Given the description of an element on the screen output the (x, y) to click on. 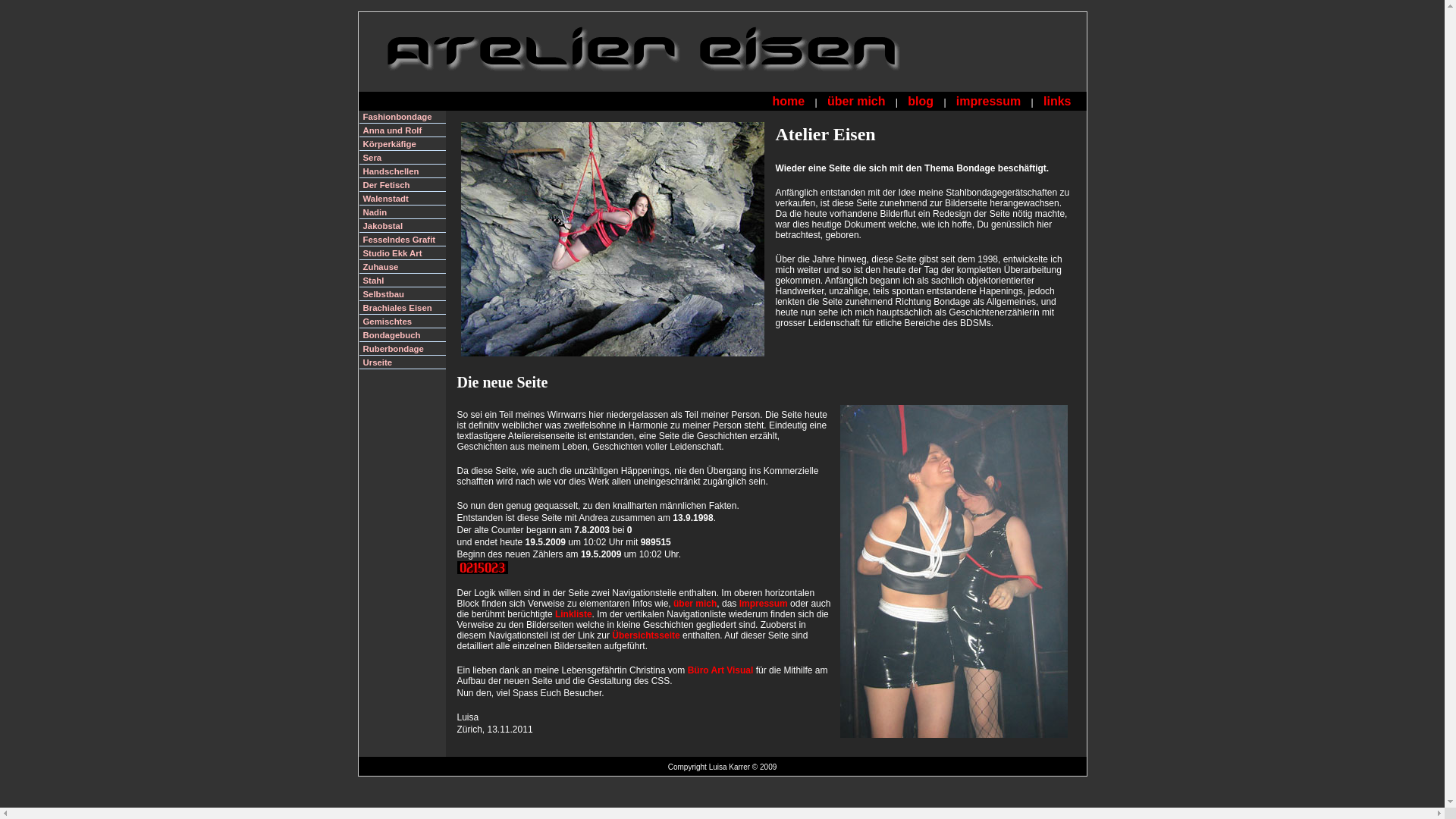
Urseite Element type: text (402, 362)
Test Bild Element type: hover (953, 571)
Fesselndes Grafit Element type: text (402, 239)
Nadin Element type: text (402, 212)
Walenstadt Element type: text (402, 198)
Selbstbau Element type: text (402, 294)
Der Fetisch Element type: text (402, 184)
Zuhause Element type: text (402, 266)
Studio Ekk Art Element type: text (402, 253)
Bondagebuch Element type: text (402, 335)
impressum Element type: text (988, 100)
Linkliste Element type: text (573, 613)
Brachiales Eisen Element type: text (402, 307)
Stahl Element type: text (402, 280)
home Element type: text (788, 100)
blog Element type: text (920, 100)
Sara in Walenstadt Element type: hover (615, 246)
Anna und Rolf Element type: text (402, 130)
Jakobstal Element type: text (402, 225)
Handschellen Element type: text (402, 171)
Impressum Element type: text (763, 603)
Sera Element type: text (402, 157)
Banner Atelier Eisen Element type: hover (660, 48)
Fashionbondage Element type: text (402, 116)
links Element type: text (1056, 100)
Ruberbondage Element type: text (402, 348)
Gemischtes Element type: text (402, 321)
